Given the description of an element on the screen output the (x, y) to click on. 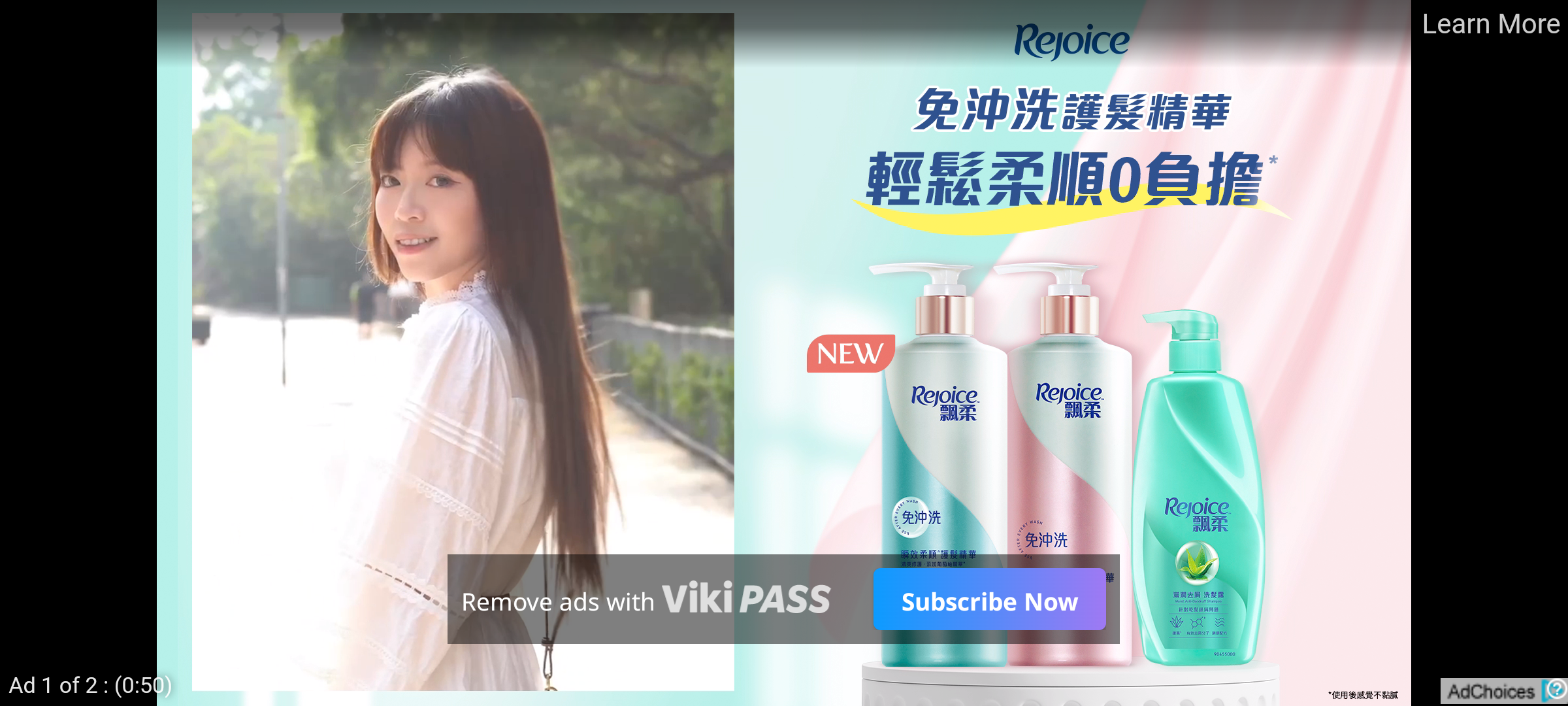
Learn More (1490, 24)
Subscribe Now (989, 599)
Ad 1 of 2 : (0:50) (90, 684)
help_outline_white_24dp_with_3px_trbl_padding (1553, 688)
get?name=admarker-full-tl (1504, 690)
